Given the description of an element on the screen output the (x, y) to click on. 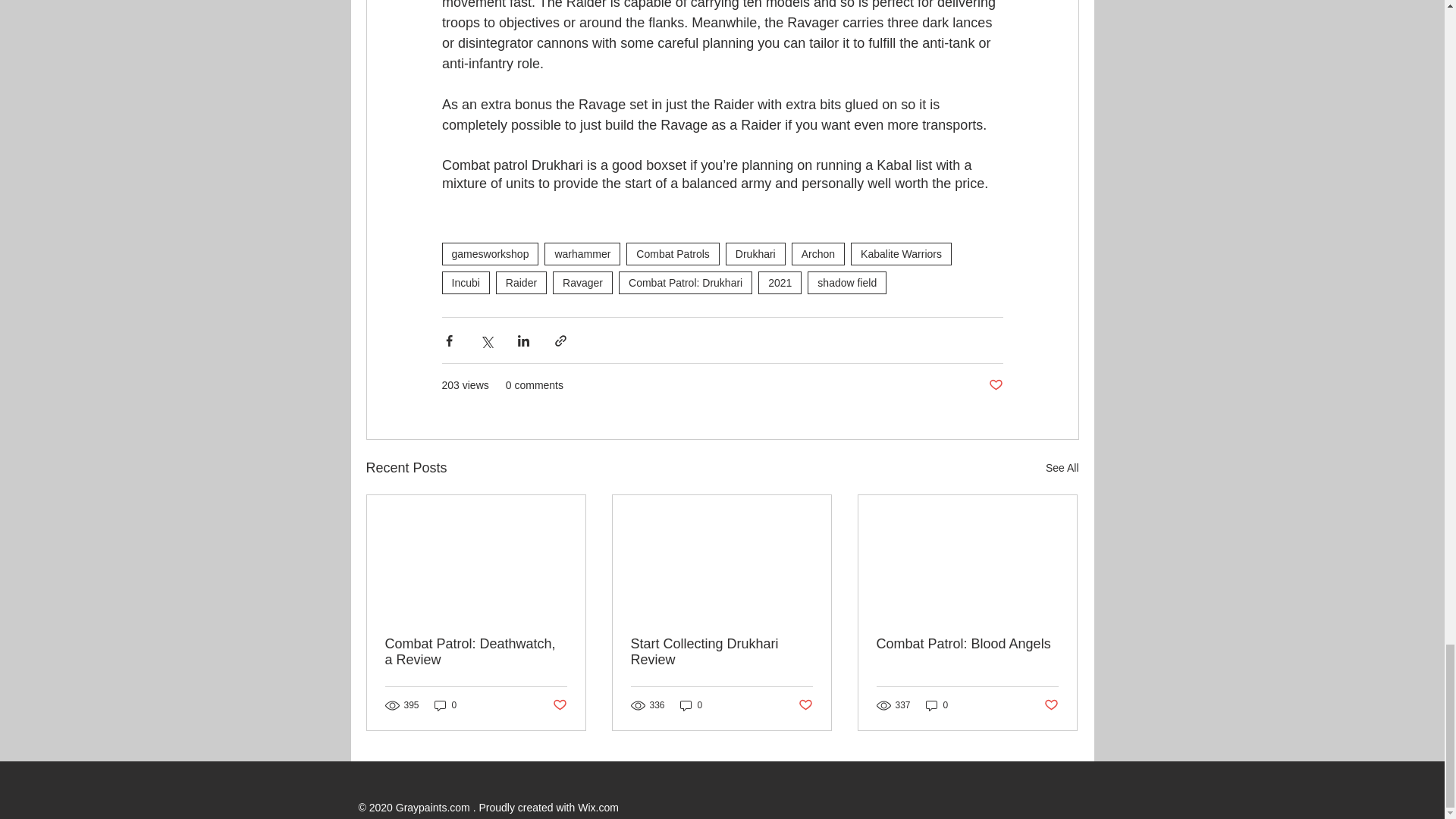
Post not marked as liked (995, 385)
Incubi (465, 282)
2021 (780, 282)
Combat Patrol: Deathwatch, a Review (476, 652)
Combat Patrol: Drukhari (685, 282)
Combat Patrols (672, 253)
Archon (818, 253)
Ravager (582, 282)
gamesworkshop (489, 253)
warhammer (582, 253)
Post not marked as liked (804, 705)
Drukhari (755, 253)
shadow field (847, 282)
Raider (521, 282)
Start Collecting Drukhari Review (721, 652)
